Given the description of an element on the screen output the (x, y) to click on. 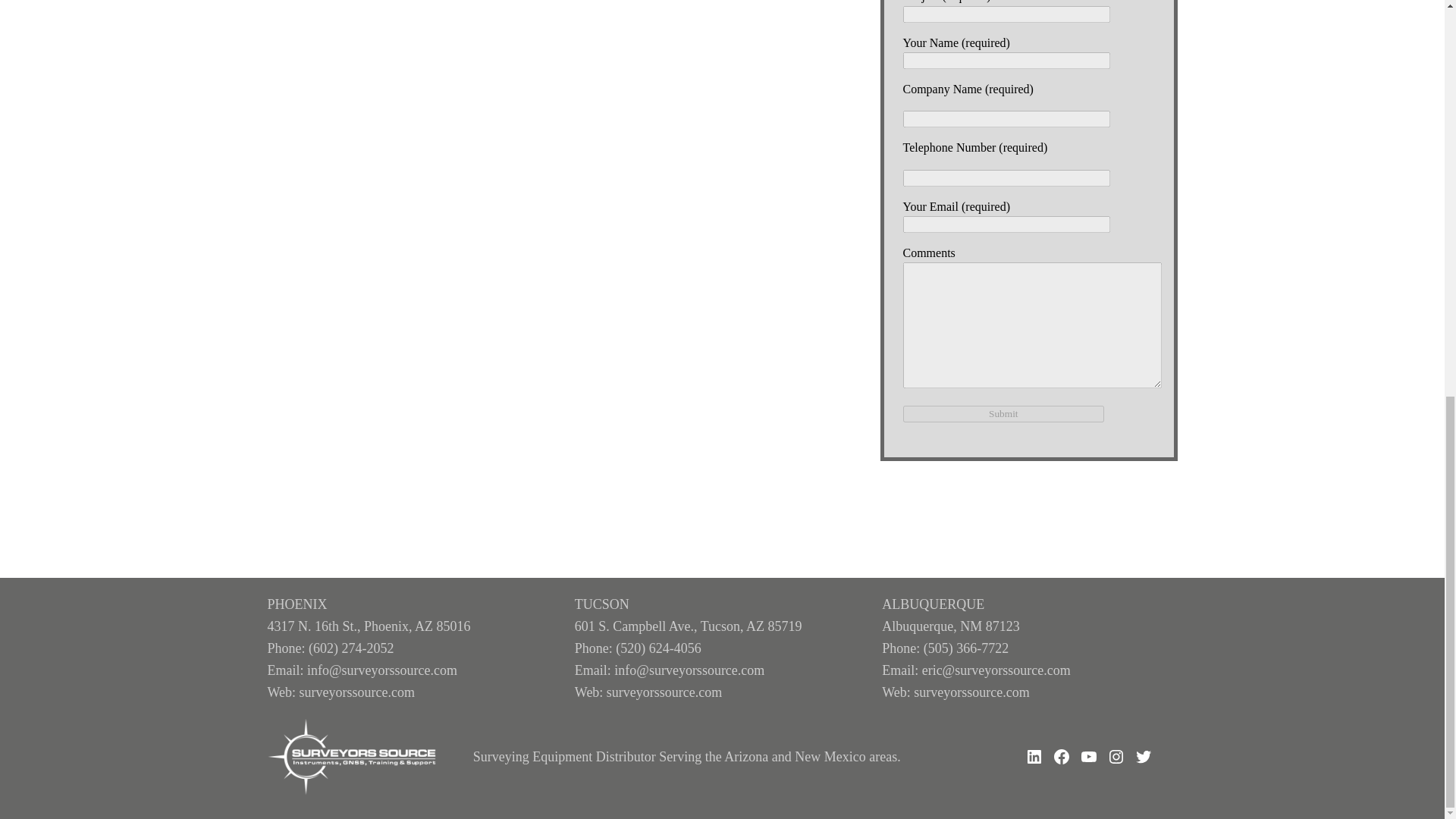
Submit (1002, 413)
